Given the description of an element on the screen output the (x, y) to click on. 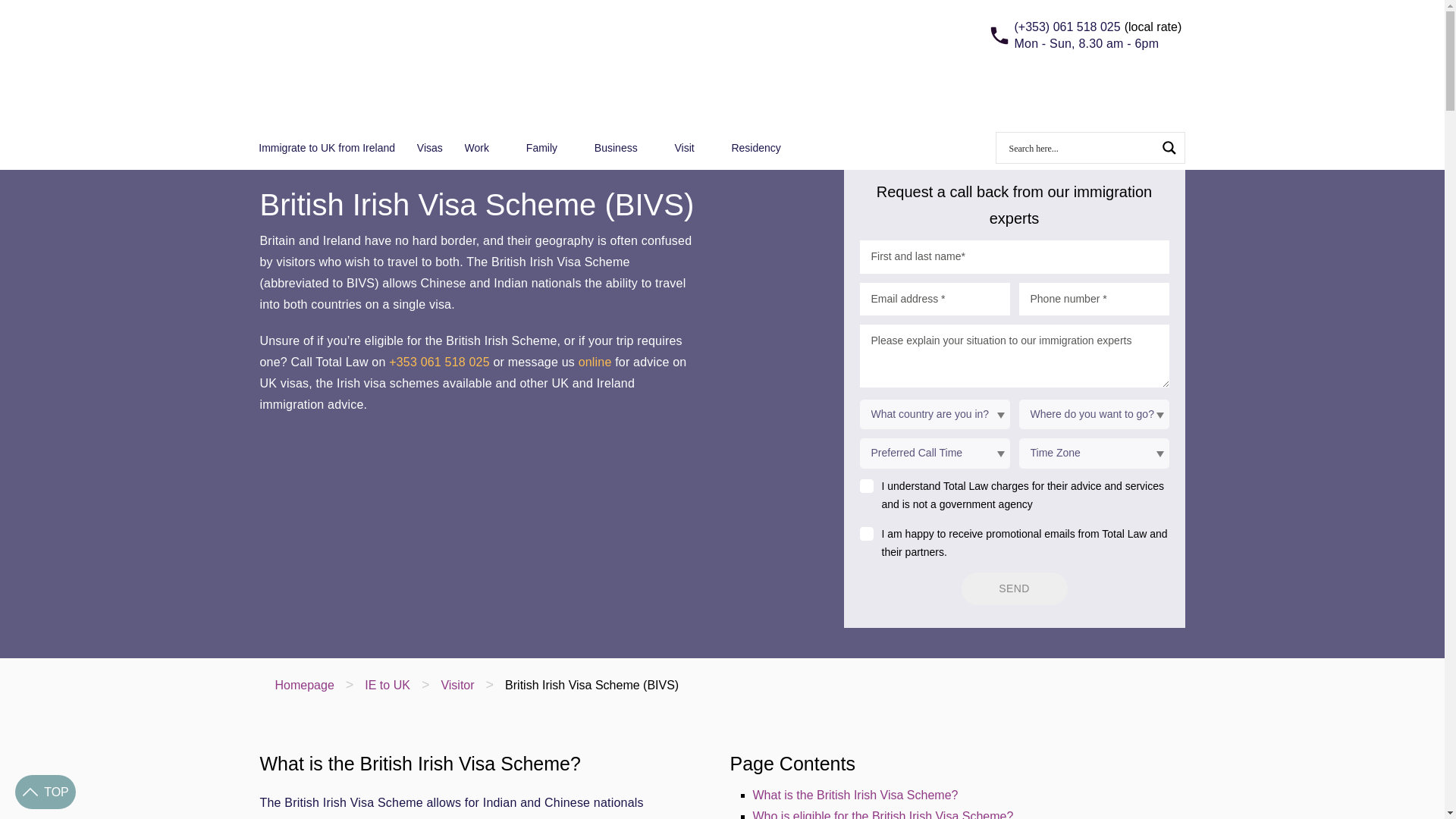
Visit (691, 147)
Visas (429, 147)
Immigrate to UK from Ireland (326, 147)
Business (623, 147)
Homepage (304, 684)
IE to UK (387, 684)
Family (548, 147)
SEND (1013, 589)
Work (483, 147)
Visitor (457, 684)
Residency (762, 147)
